Given the description of an element on the screen output the (x, y) to click on. 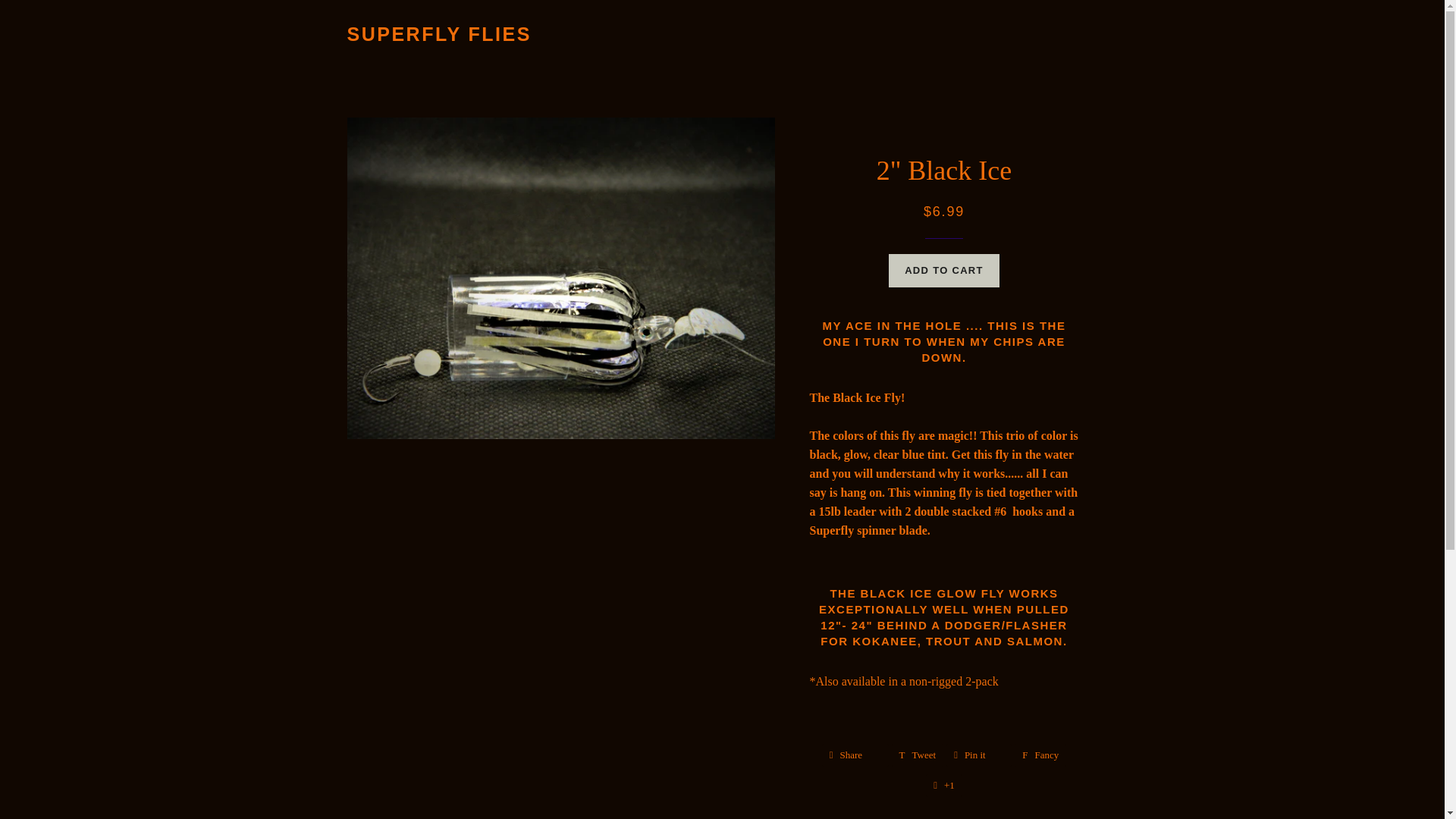
Pin on Pinterest (978, 754)
Share on Facebook (855, 754)
Add to Fancy (1039, 754)
Tweet on Twitter (917, 754)
SUPERFLY FLIES (439, 34)
